Given the description of an element on the screen output the (x, y) to click on. 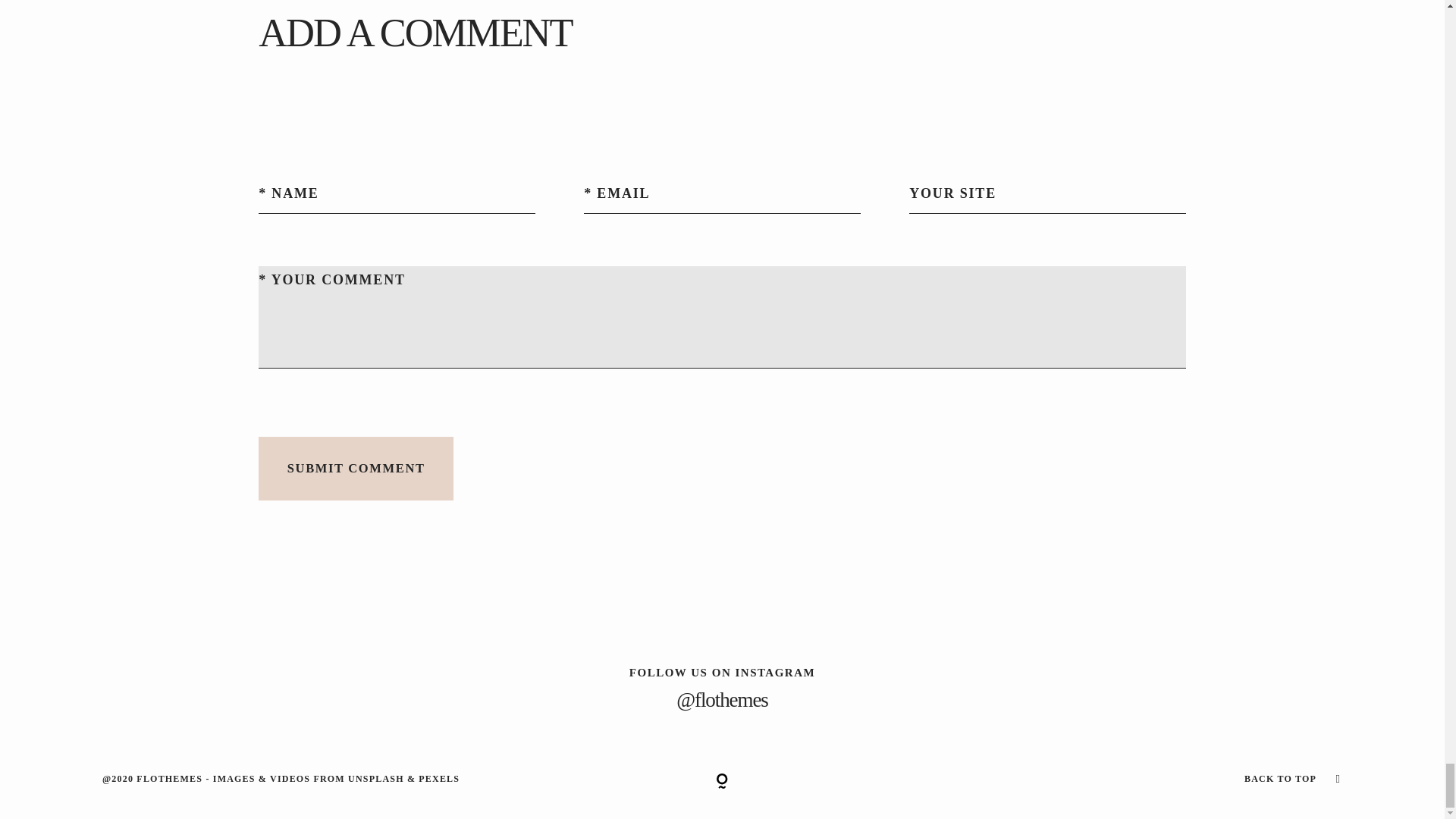
Sorry, your browser does not support inline SVG. (721, 781)
BACK TO TOP (1280, 777)
BACK TO TOP (1135, 778)
